Given the description of an element on the screen output the (x, y) to click on. 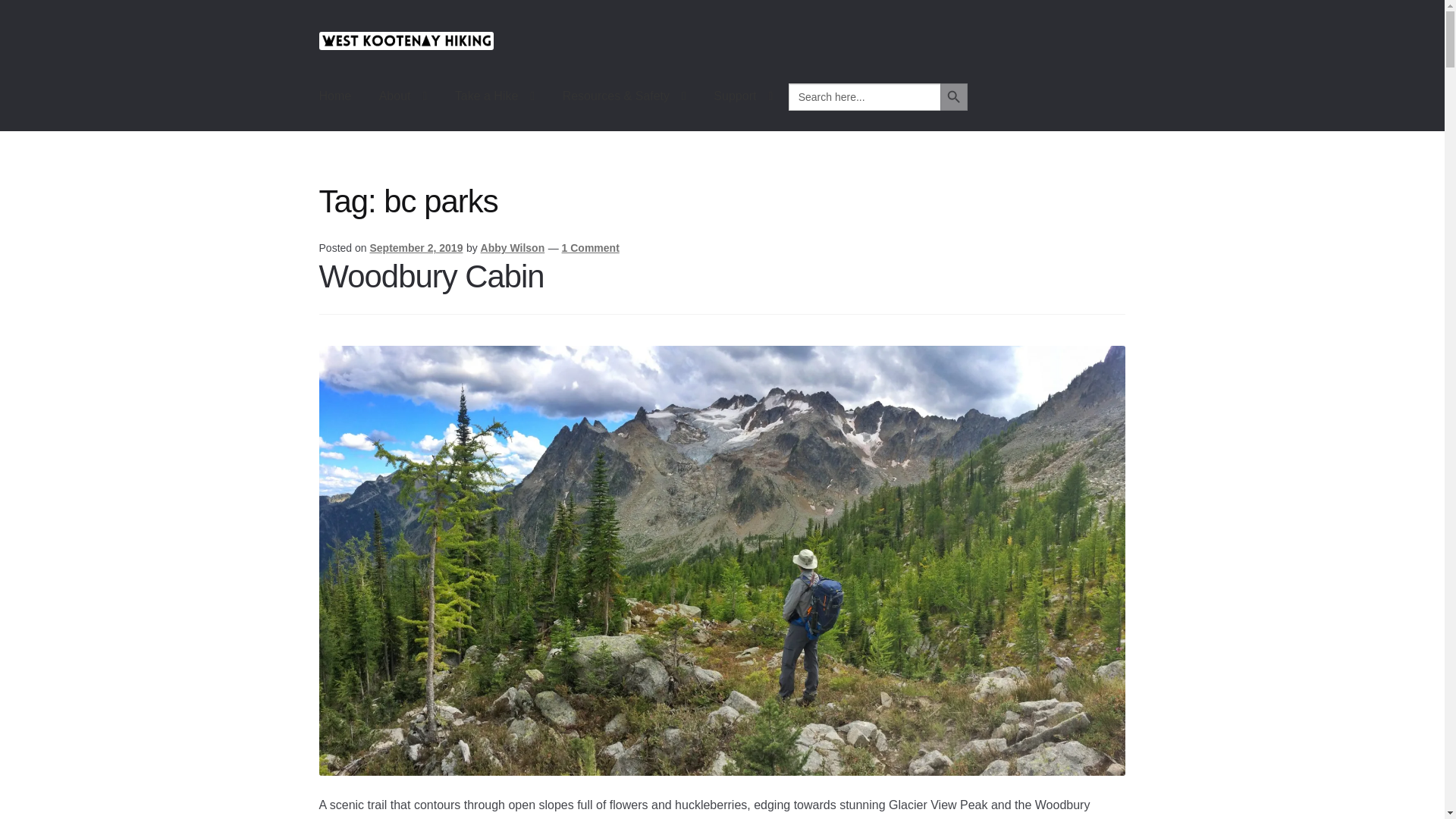
Home (335, 96)
Search Button (954, 96)
Support (742, 96)
About (402, 96)
Take a Hike (494, 96)
